Given the description of an element on the screen output the (x, y) to click on. 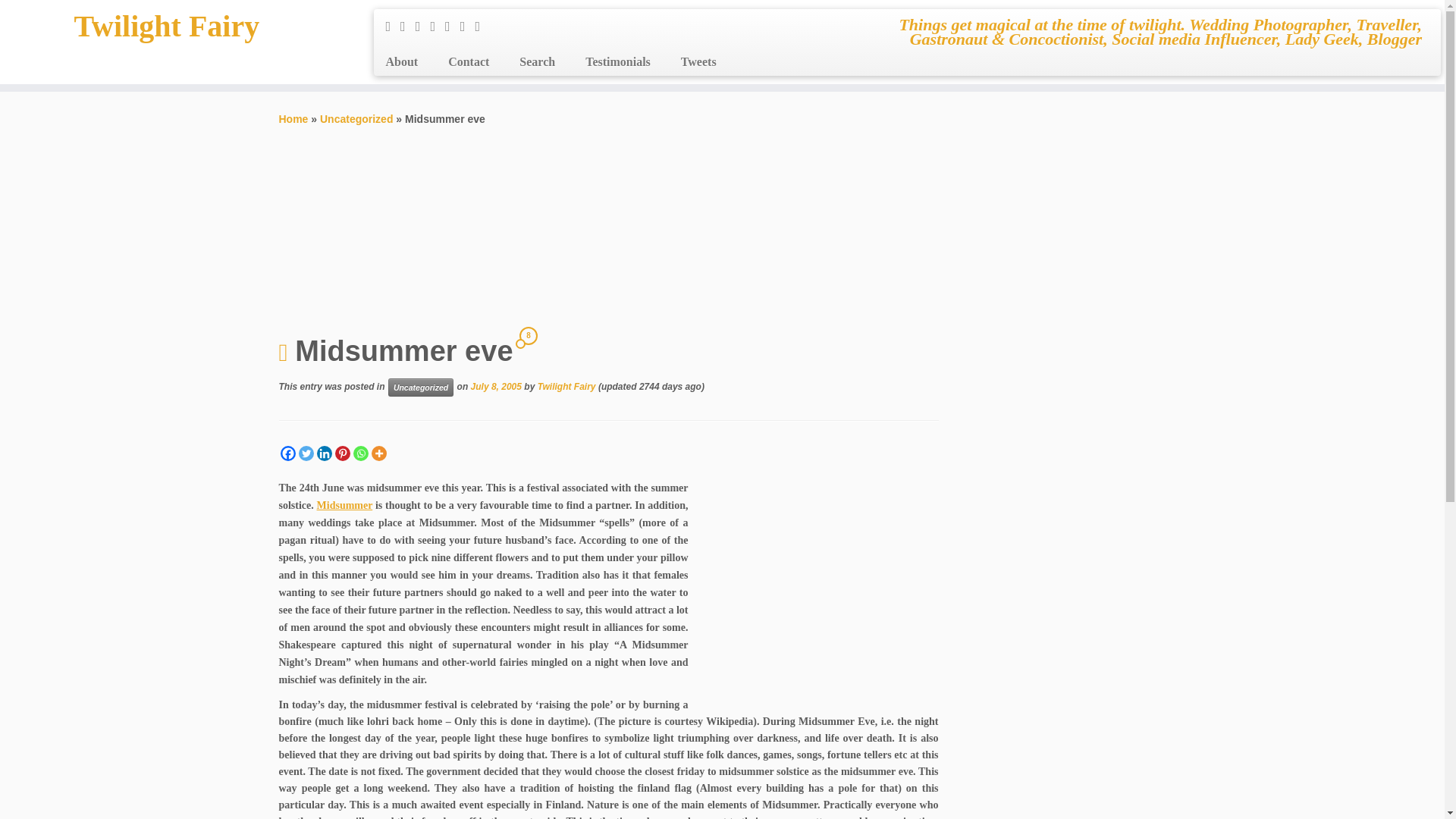
Home (293, 119)
Follow me on Twitter (407, 26)
About (406, 62)
Search (536, 62)
Follow me on Flickr (452, 26)
10:08 pm (495, 386)
Contact (467, 62)
July 8, 2005 (495, 386)
Follow me on Youtube (468, 26)
View all posts in Uncategorized (420, 387)
